Given the description of an element on the screen output the (x, y) to click on. 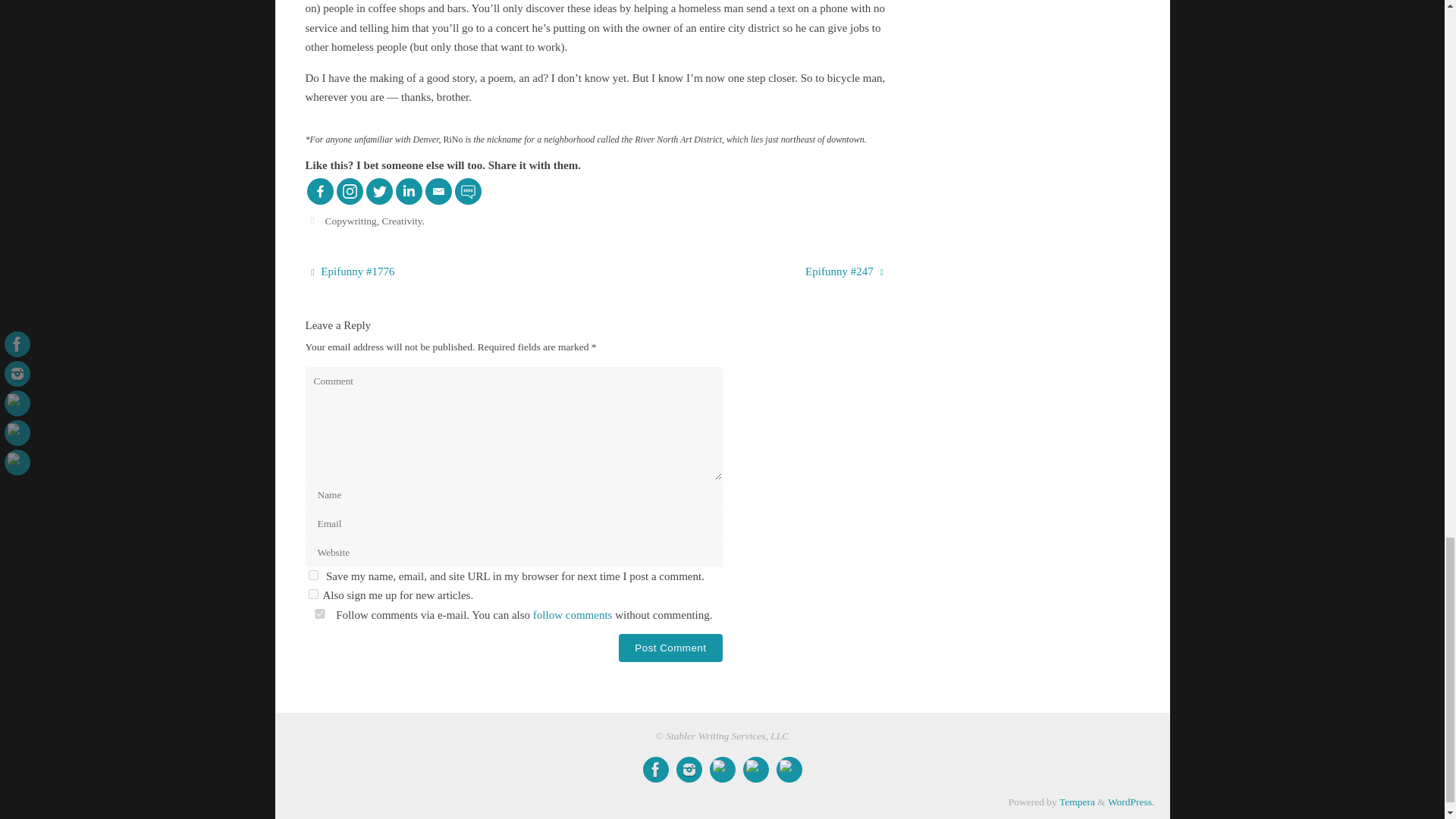
Creativity (401, 220)
Post Comment (670, 647)
yes (318, 614)
follow comments (572, 614)
yes (312, 574)
Copywriting (349, 220)
Post Comment (670, 647)
1 (312, 593)
